Given the description of an element on the screen output the (x, y) to click on. 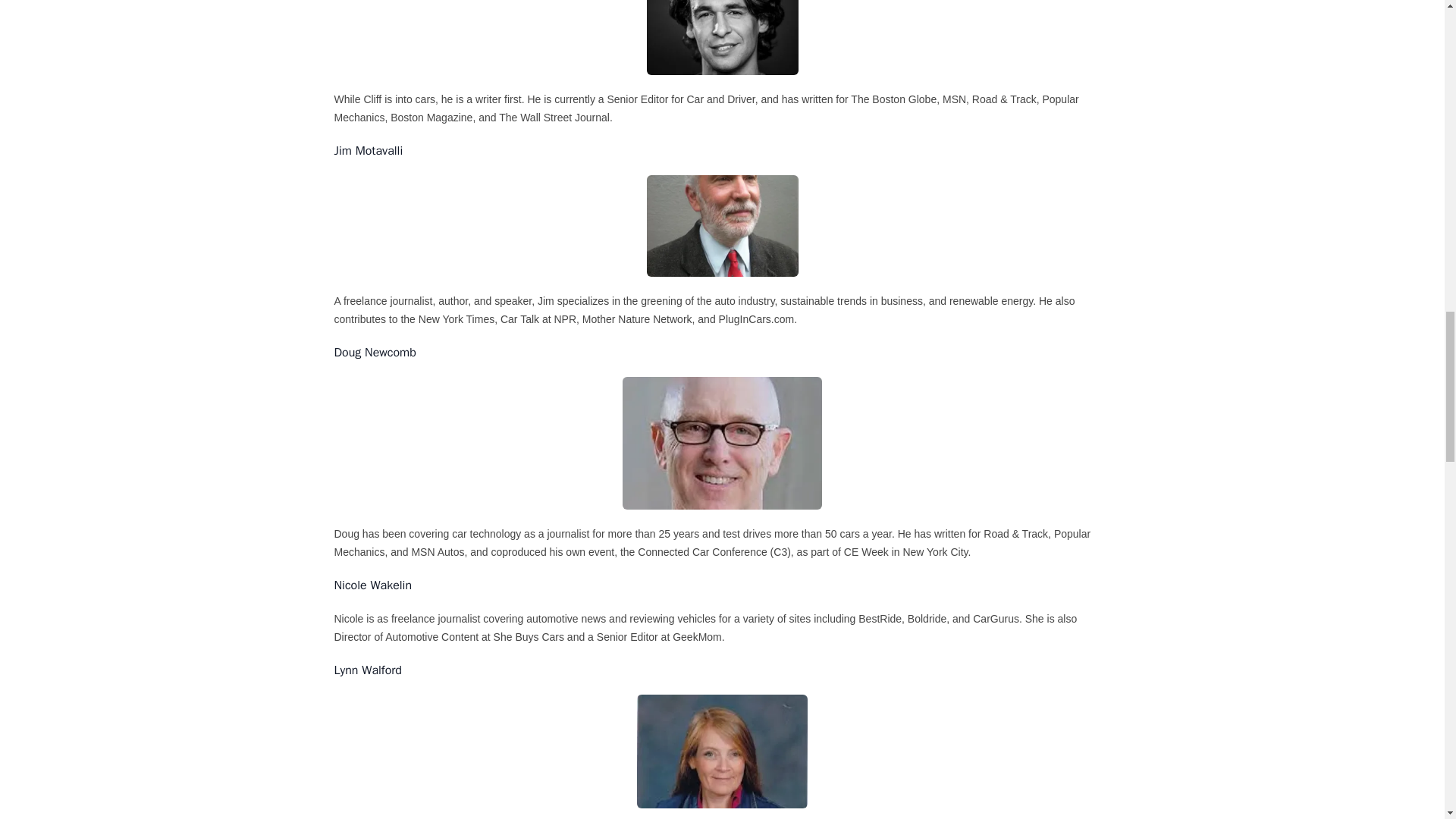
jim-motavalli.png (721, 225)
doug-newcomb.jpg (722, 442)
lynn-walford.jpg (722, 751)
clifford-atiyeh.png (721, 37)
